Given the description of an element on the screen output the (x, y) to click on. 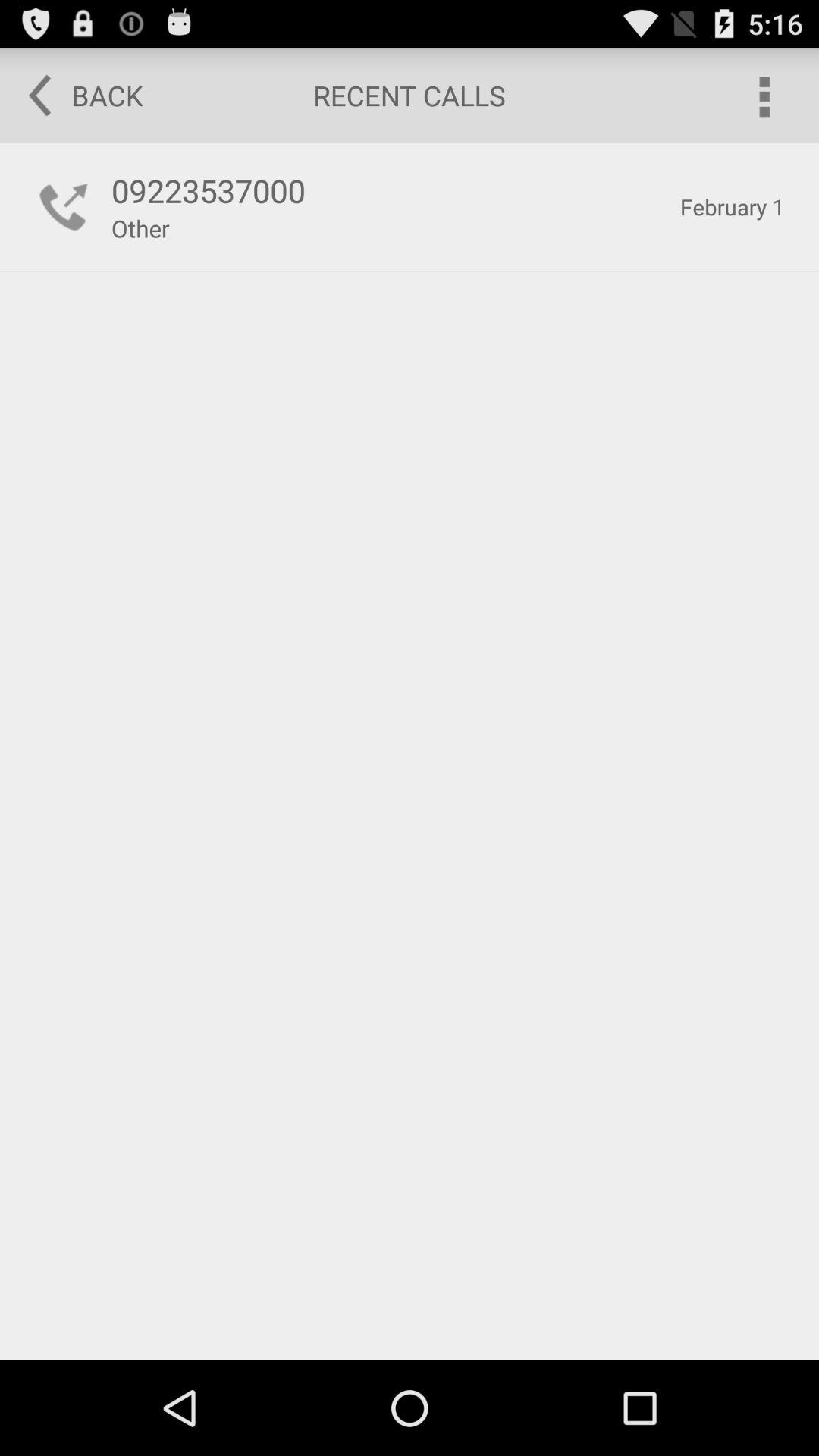
tap icon next to recent calls app (763, 95)
